Given the description of an element on the screen output the (x, y) to click on. 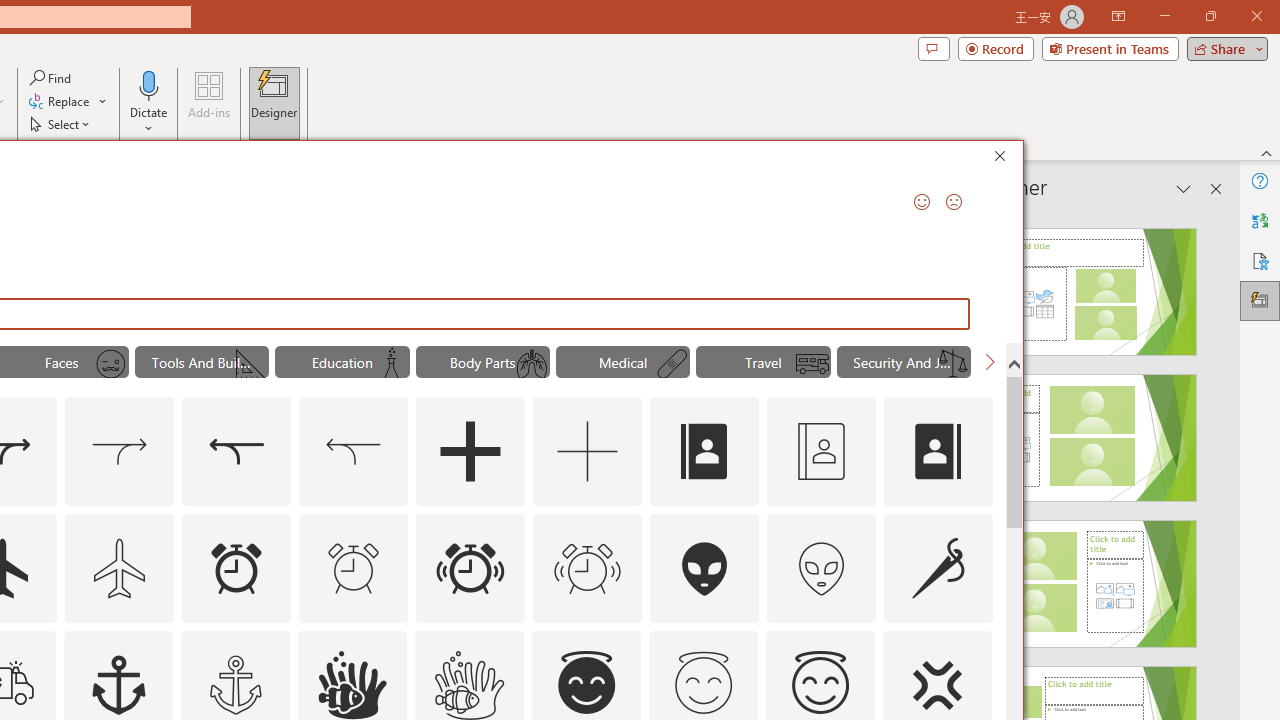
AutomationID: Icons_AddressBook_LTR (705, 452)
Select (61, 124)
AutomationID: Icons_Add_M (587, 452)
Find... (51, 78)
AutomationID: Icons_Acquisition_RTL (236, 452)
Next Search Suggestion (990, 362)
AutomationID: Icons_Add (470, 452)
outline (820, 685)
